Given the description of an element on the screen output the (x, y) to click on. 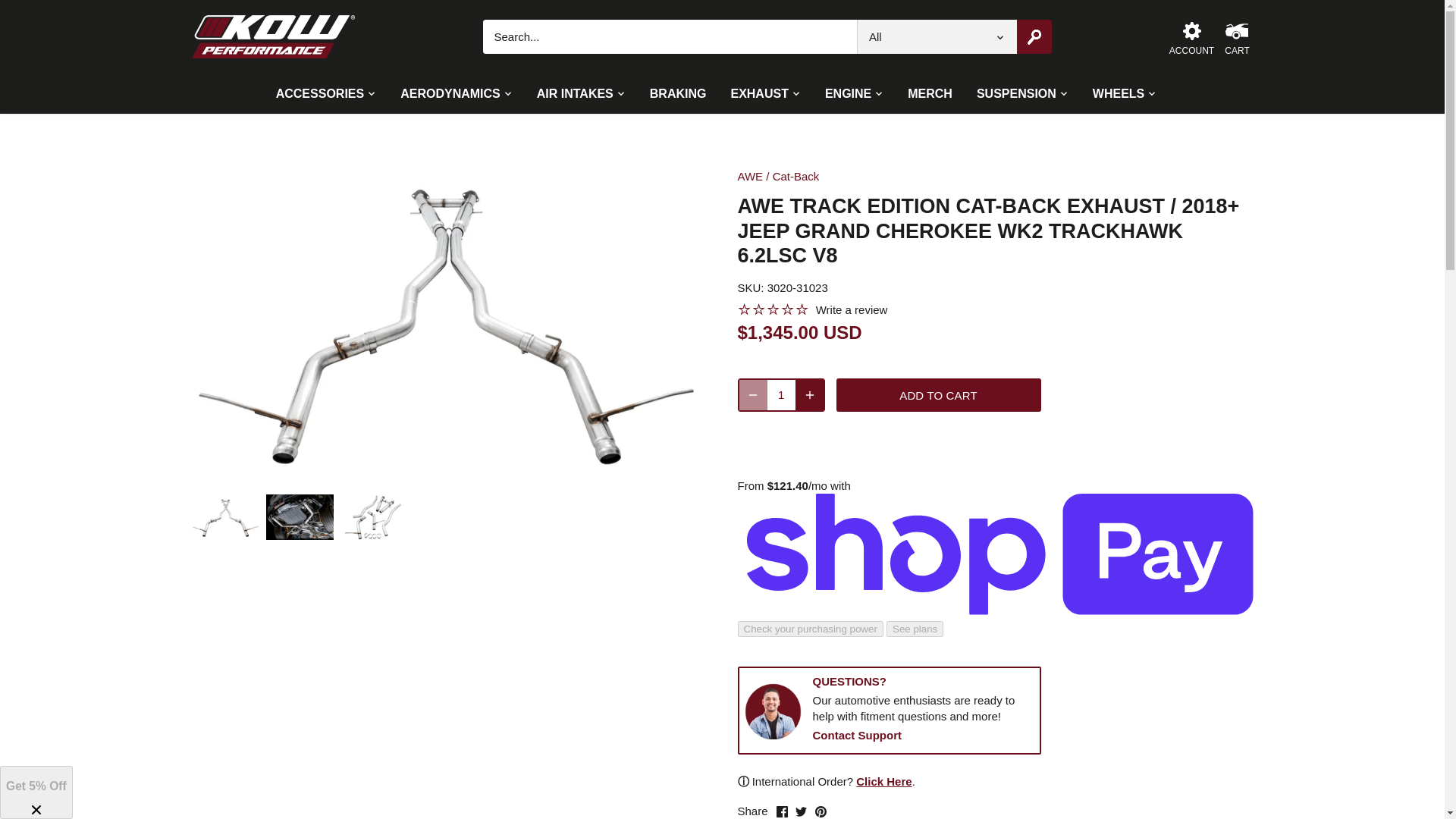
Facebook (781, 811)
Pinterest (821, 811)
AERODYNAMICS (450, 93)
1 (781, 395)
EXHAUST (758, 93)
AIR INTAKES (575, 93)
SUSPENSION (1015, 93)
MERCH (929, 93)
ACCESSORIES (325, 93)
BRAKING (678, 93)
